Given the description of an element on the screen output the (x, y) to click on. 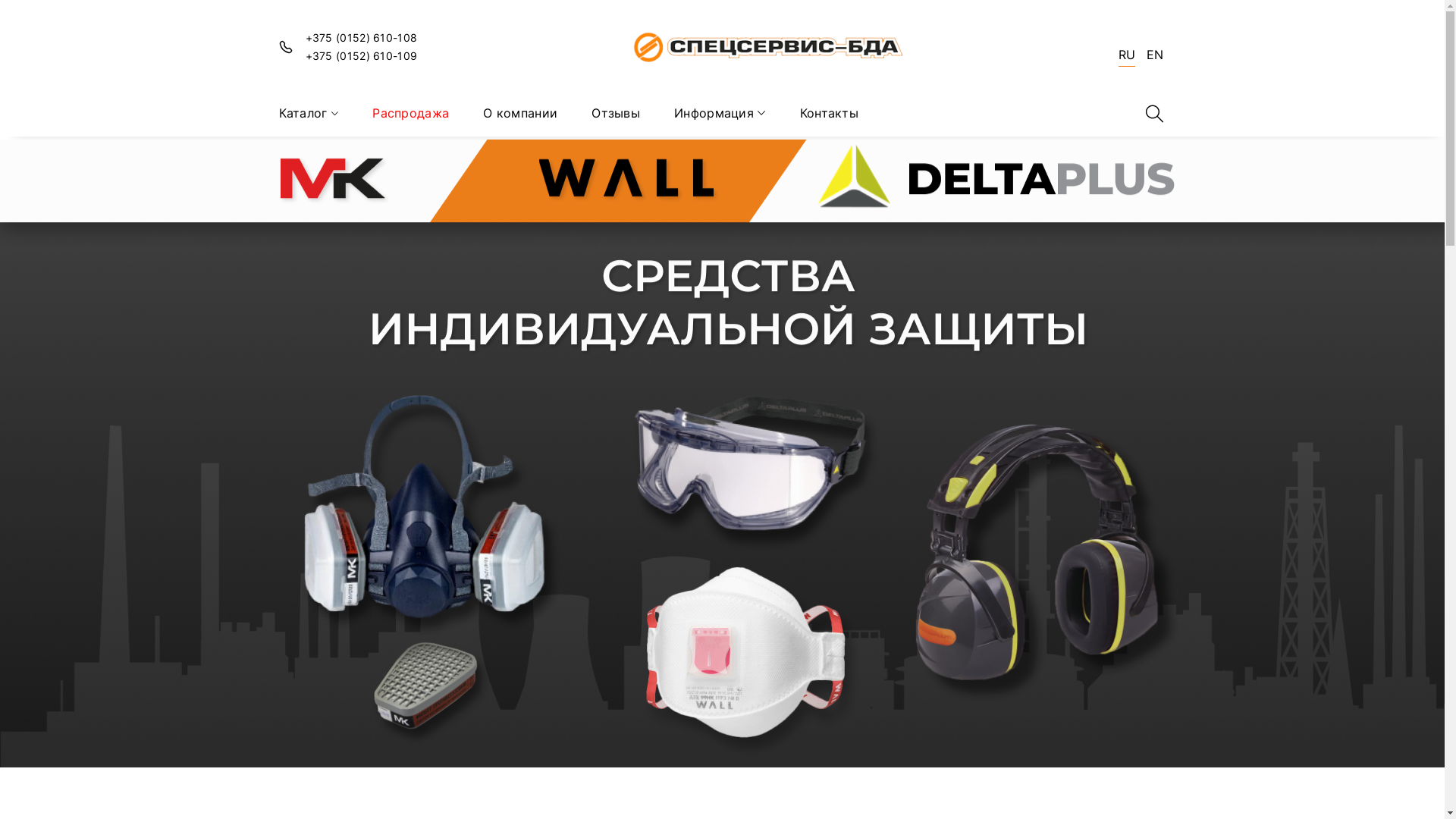
RU Element type: text (1126, 56)
+375 (0152) 610-108 Element type: text (360, 37)
EN Element type: text (1154, 56)
+375 (0152) 610-109 Element type: text (360, 56)
s-bda.by Element type: hover (767, 47)
